Given the description of an element on the screen output the (x, y) to click on. 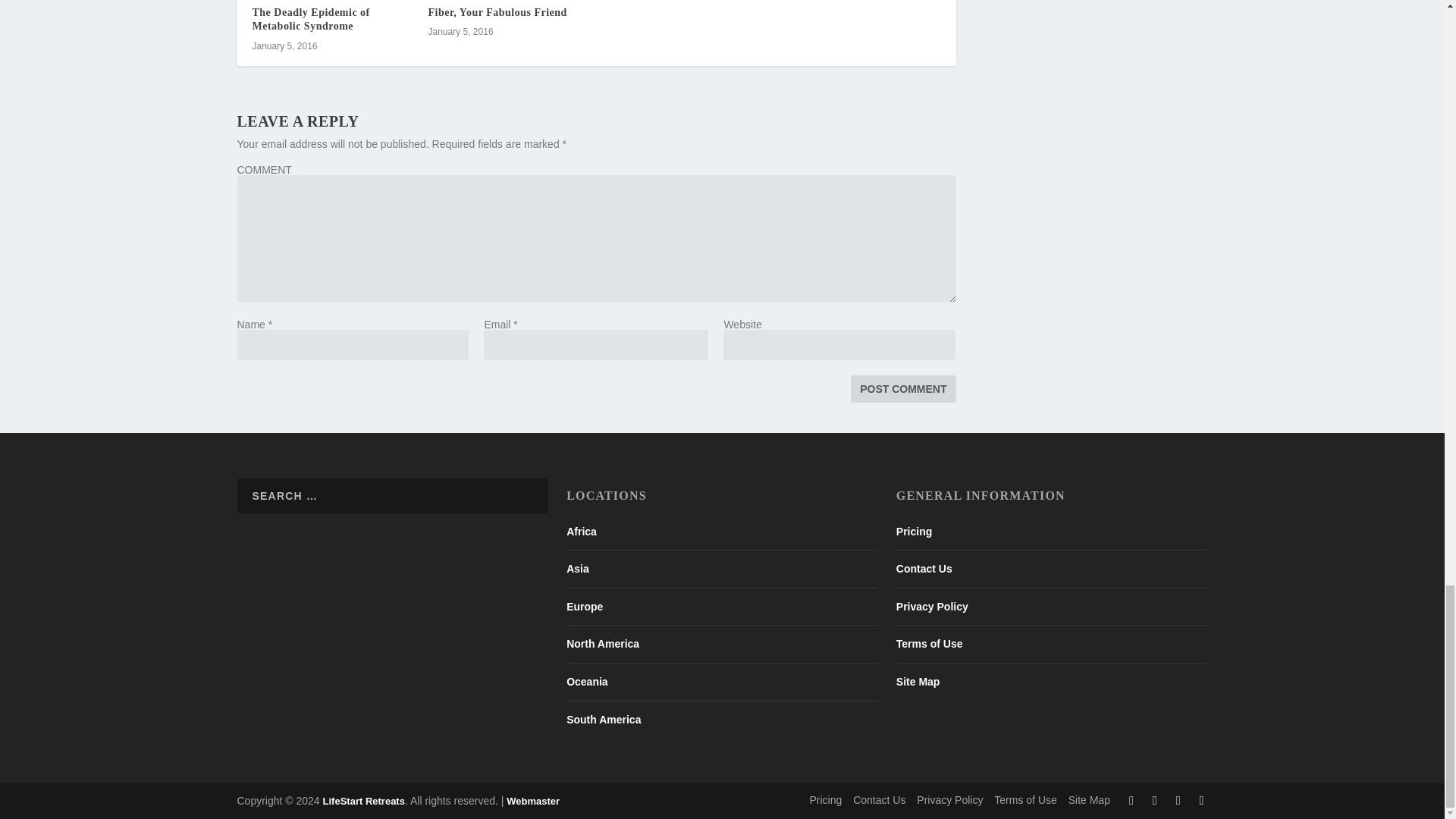
Post Comment (902, 388)
